Given the description of an element on the screen output the (x, y) to click on. 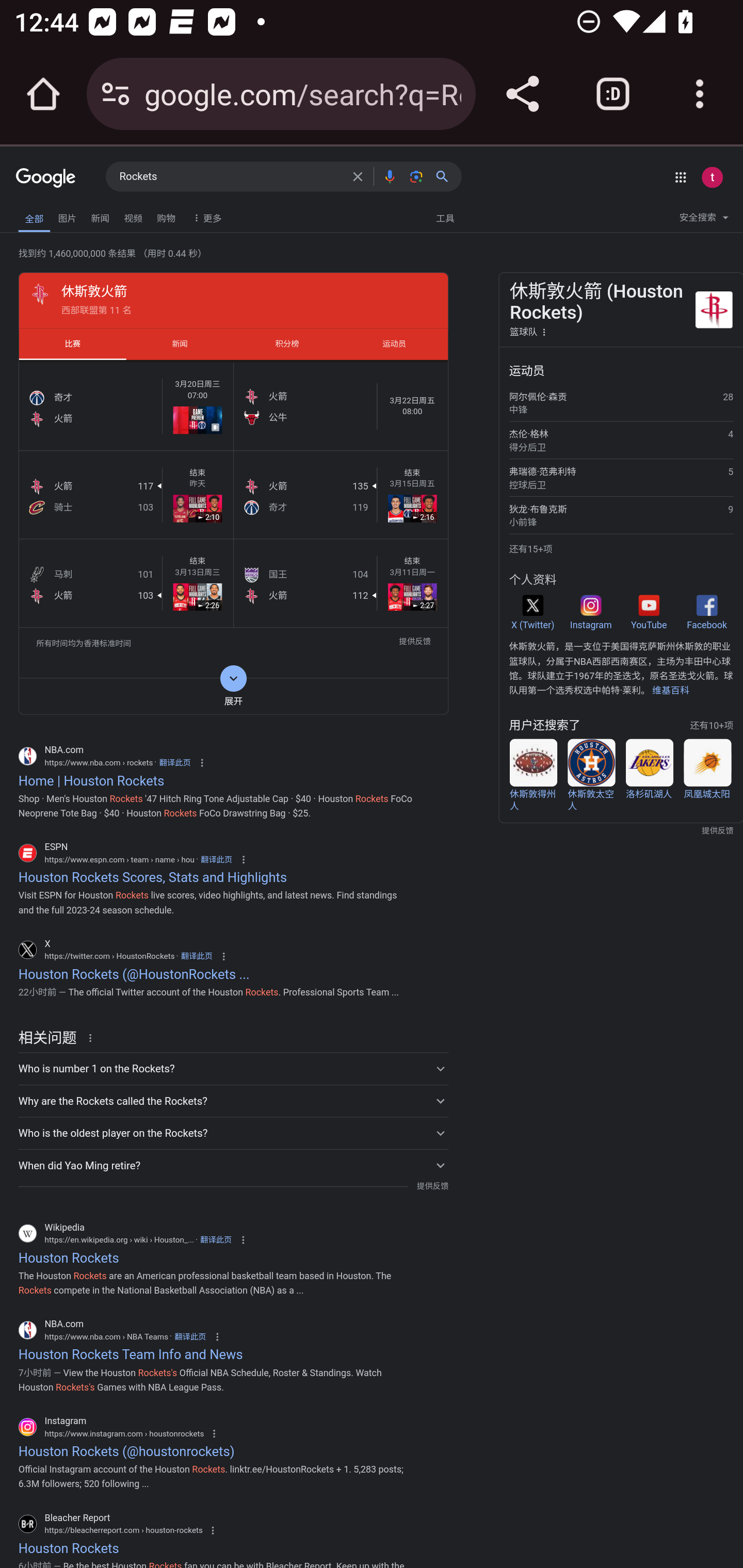
Open the home page (43, 93)
Connection is secure (115, 93)
Share (522, 93)
Switch or close tabs (612, 93)
Customize and control Google Chrome (699, 93)
清除 (357, 176)
按语音搜索 (389, 176)
按图搜索 (415, 176)
搜索 (446, 176)
Google 应用 (680, 176)
Google 账号： test appium (testappium002@gmail.com) (712, 176)
Google (45, 178)
Rockets (229, 177)
无障碍功能反馈 (42, 212)
图片 (67, 216)
新闻 (99, 216)
视频 (133, 216)
购物 (166, 216)
更多 (205, 216)
安全搜索 (703, 219)
工具 (444, 216)
休斯敦火箭 西部联盟第 11 名 休斯敦火箭 西部联盟第 11 名 (232, 299)
比赛 (71, 343)
新闻 (179, 343)
积分榜 (286, 343)
运动员 (394, 343)
提供反馈 (414, 642)
展开 (232, 696)
翻译此页 (174, 761)
翻译此页 (215, 858)
翻译此页 (196, 956)
关于这条结果的详细信息 (93, 1037)
Who is number 1 on the Rockets? (232, 1068)
Why are the Rockets called the Rockets? (232, 1099)
Who is the oldest player on the Rockets? (232, 1132)
When did Yao Ming retire? (232, 1164)
提供反馈 (432, 1185)
翻译此页 (215, 1240)
翻译此页 (189, 1336)
